Given the description of an element on the screen output the (x, y) to click on. 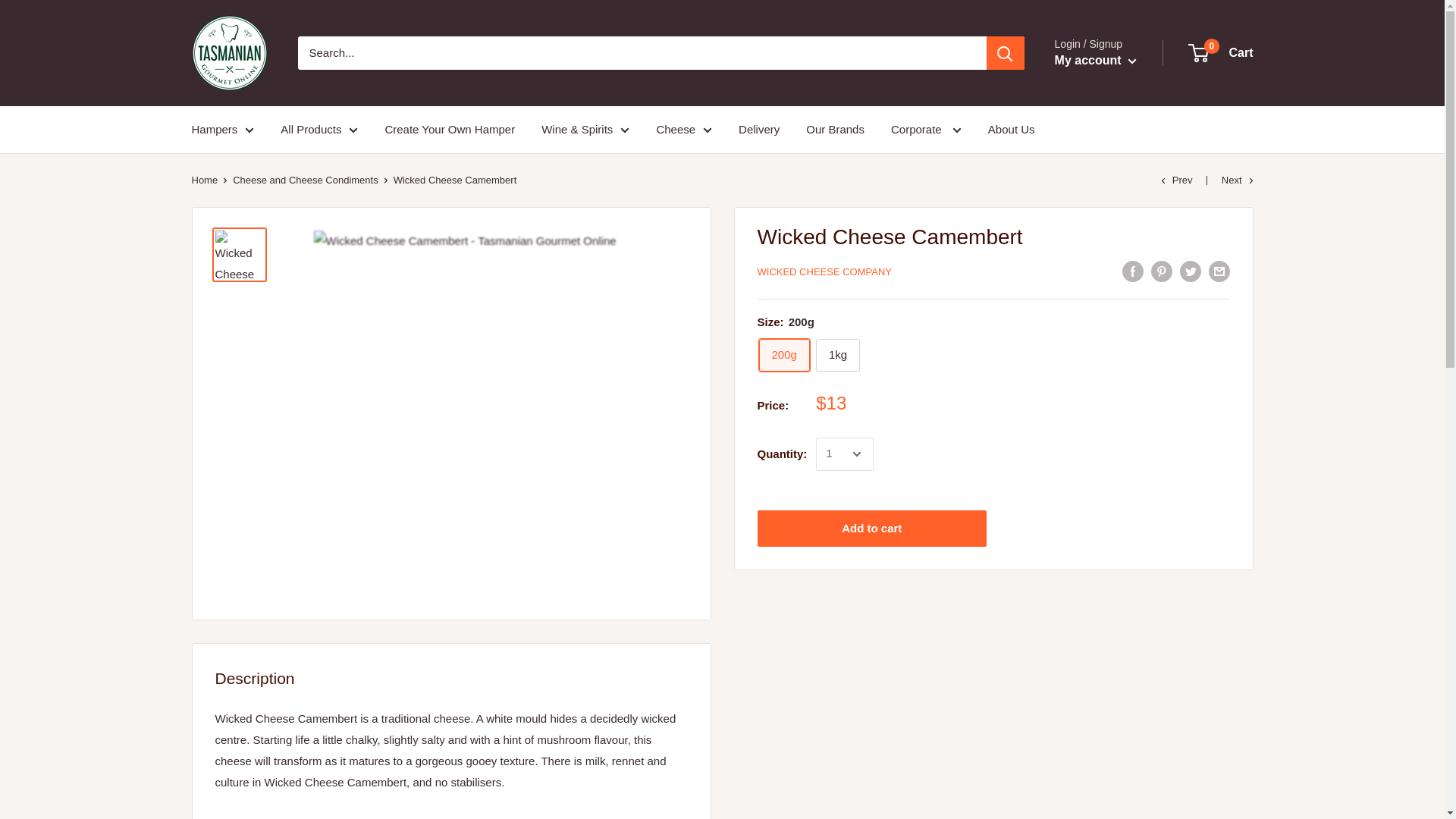
200g (783, 355)
1kg (837, 355)
